Given the description of an element on the screen output the (x, y) to click on. 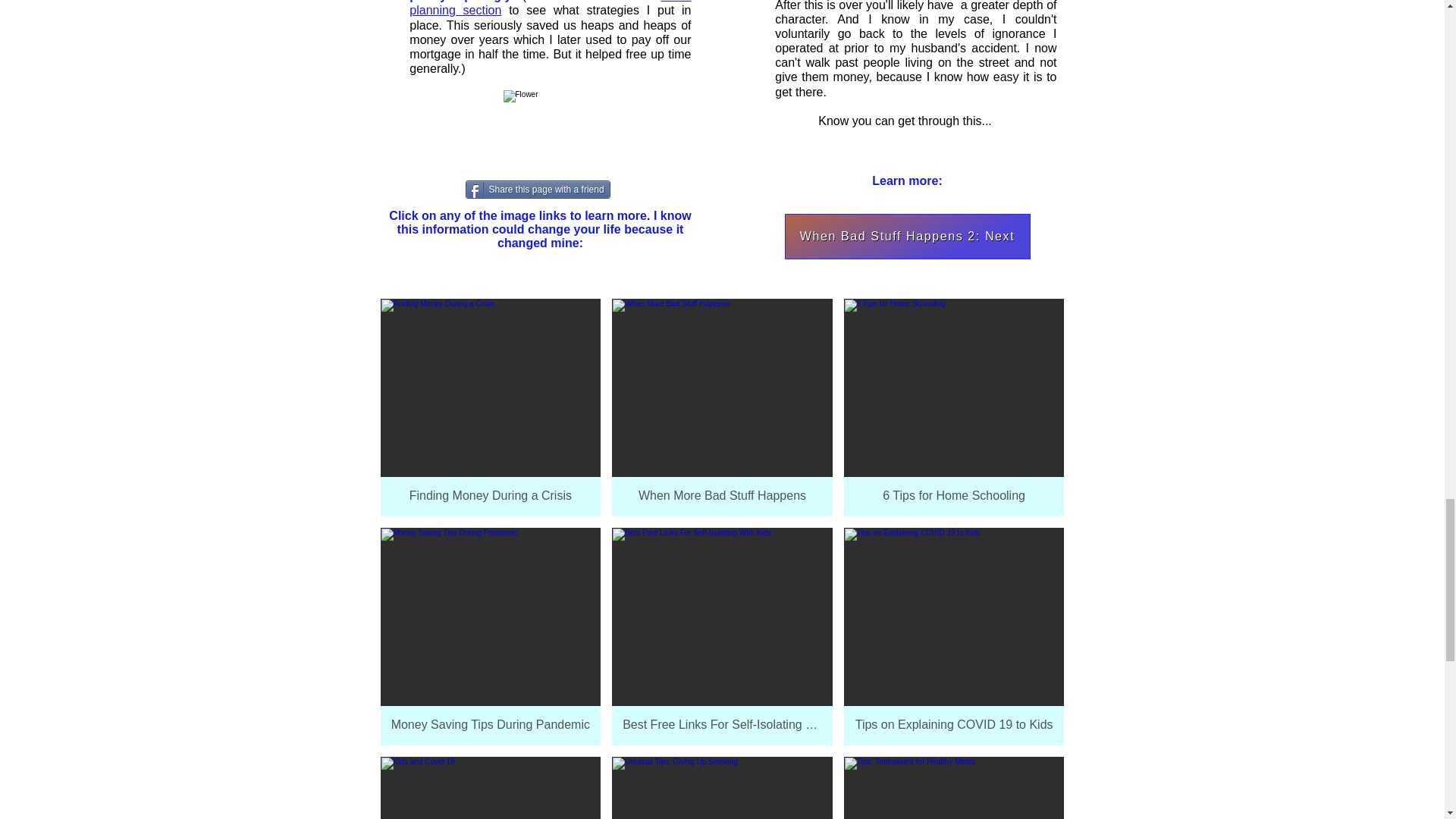
Share this page with a friend (537, 189)
